Given the description of an element on the screen output the (x, y) to click on. 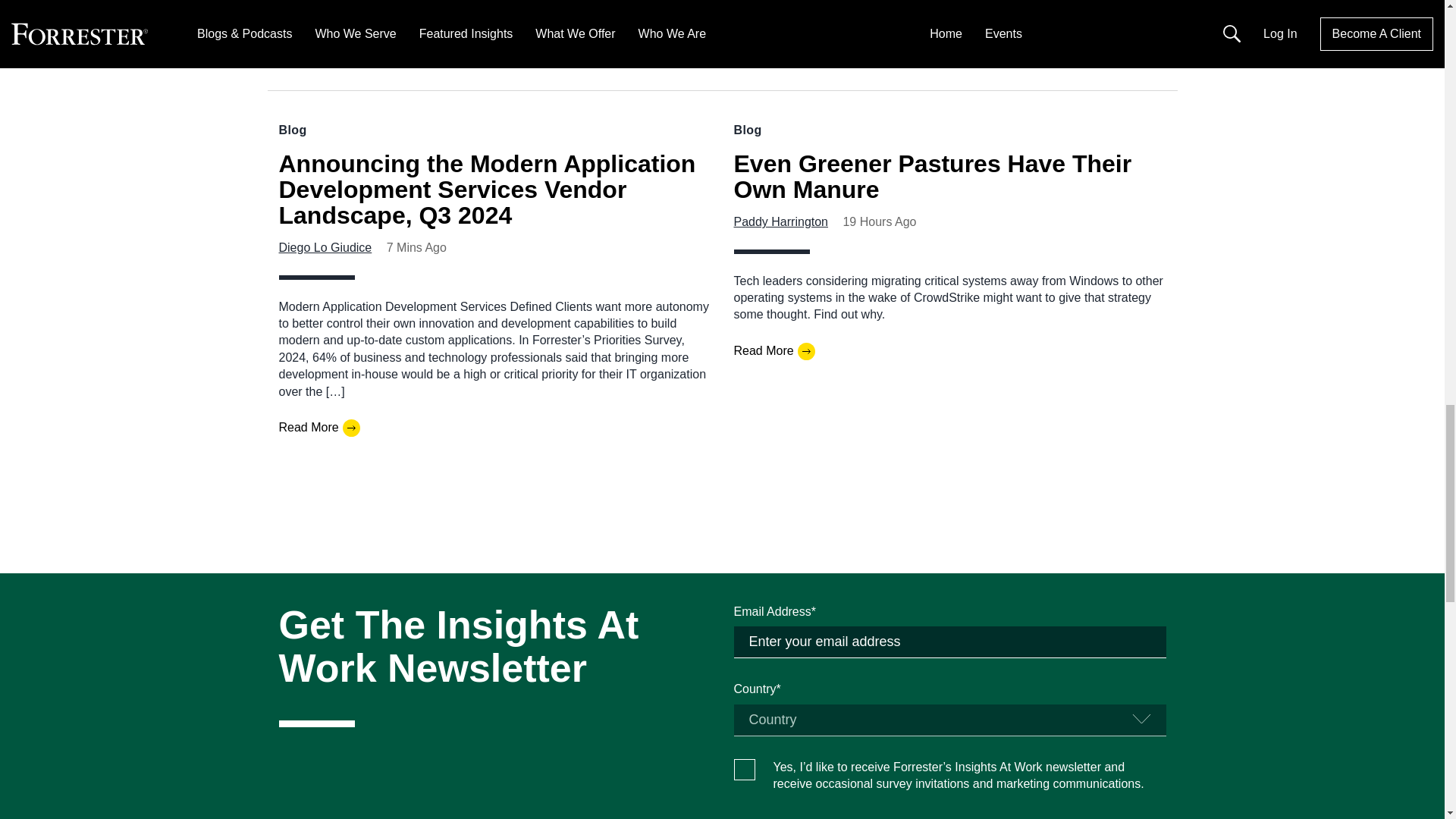
Dipanjan Chatterjee (332, 264)
Xiaofeng Wang (774, 264)
